Given the description of an element on the screen output the (x, y) to click on. 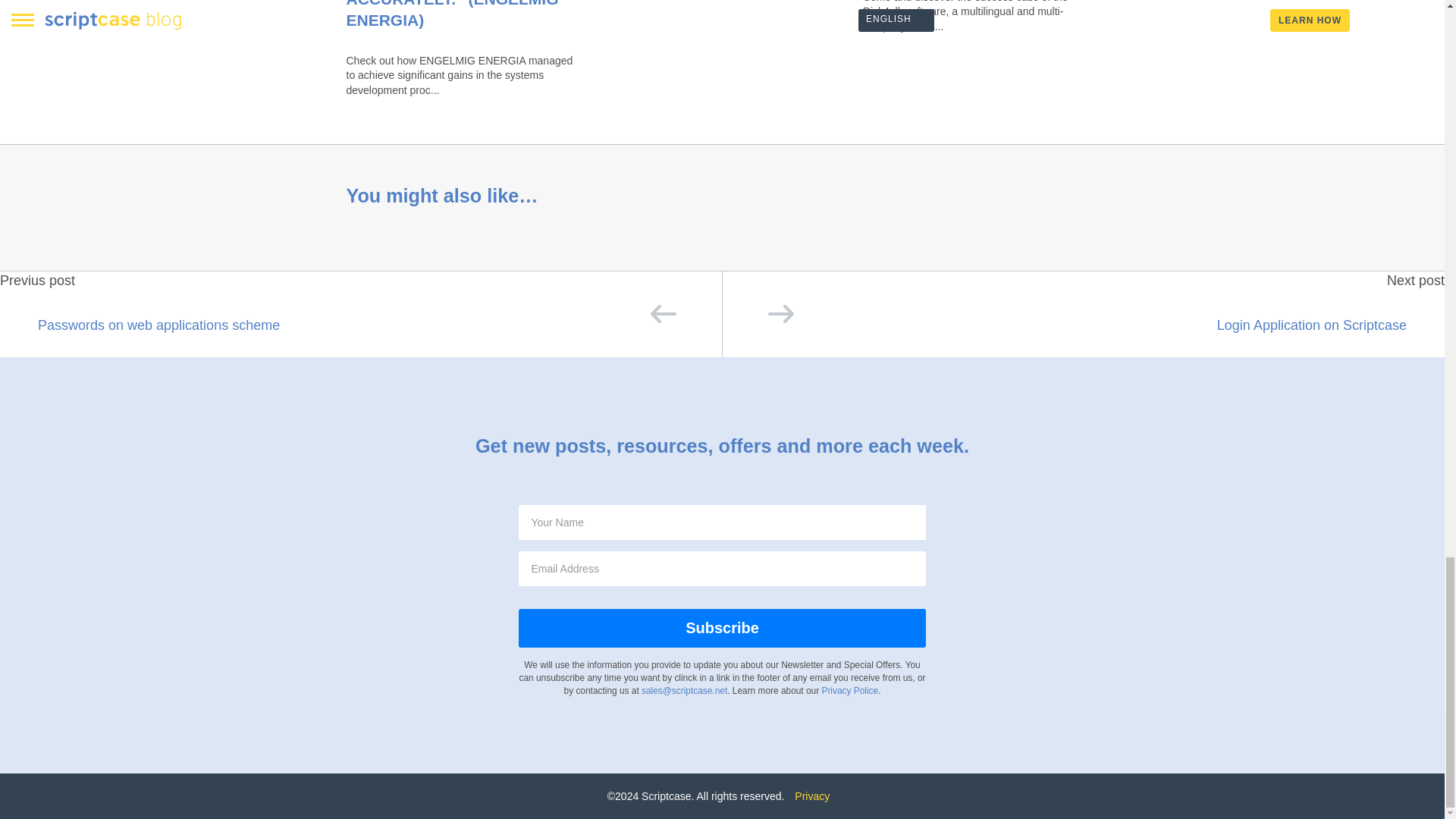
Passwords on web applications scheme (361, 323)
Subscribe (721, 628)
Subscribe (721, 628)
Privacy Police (849, 690)
